Given the description of an element on the screen output the (x, y) to click on. 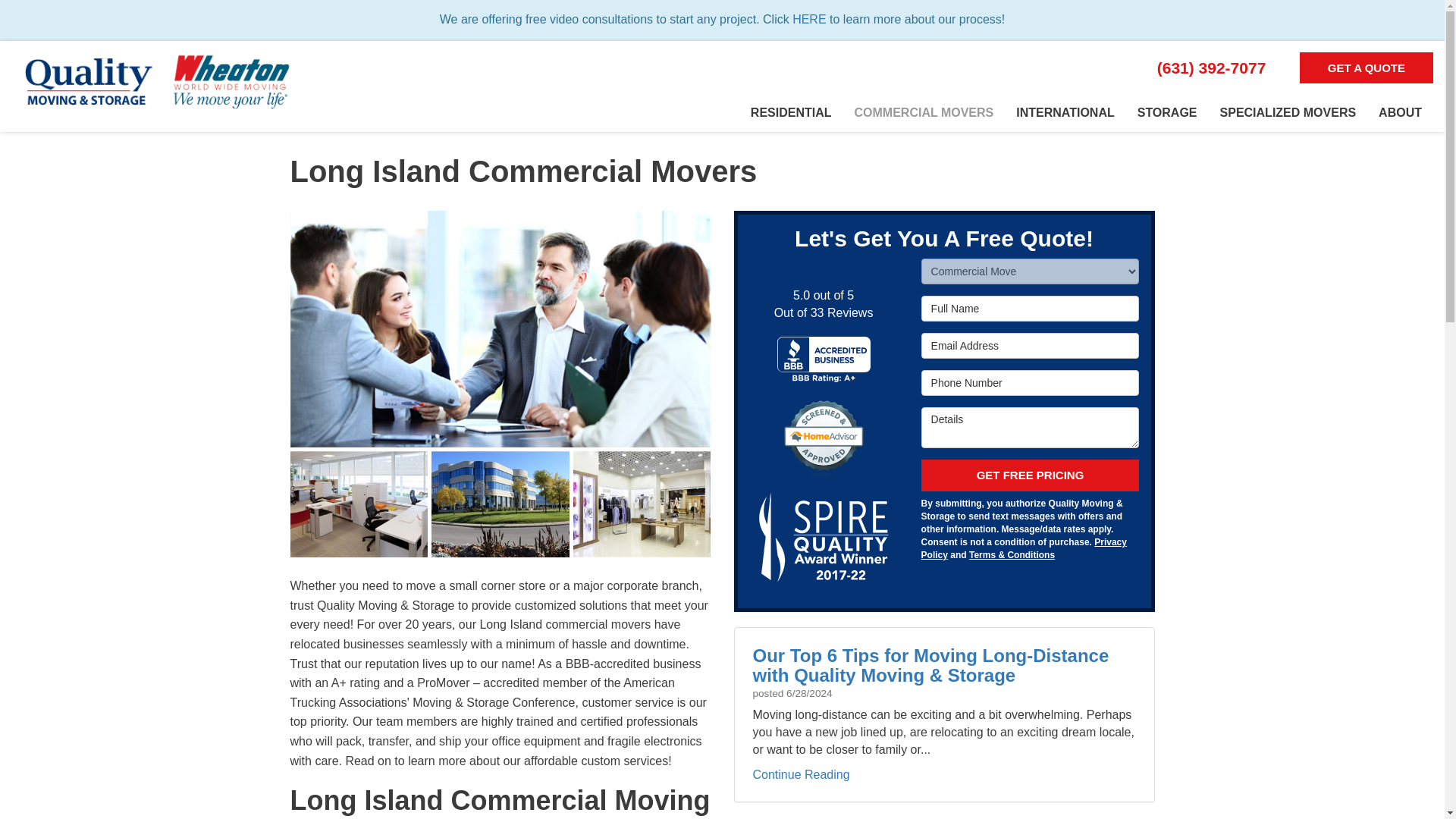
June 28, 2024 (808, 693)
HERE (808, 19)
RESIDENTIAL (791, 112)
COMMERCIAL MOVERS (924, 112)
INTERNATIONAL (1064, 112)
SPECIALIZED MOVERS (1288, 112)
STORAGE (1166, 112)
GET A QUOTE (1366, 67)
GET A QUOTE (1366, 67)
